Given the description of an element on the screen output the (x, y) to click on. 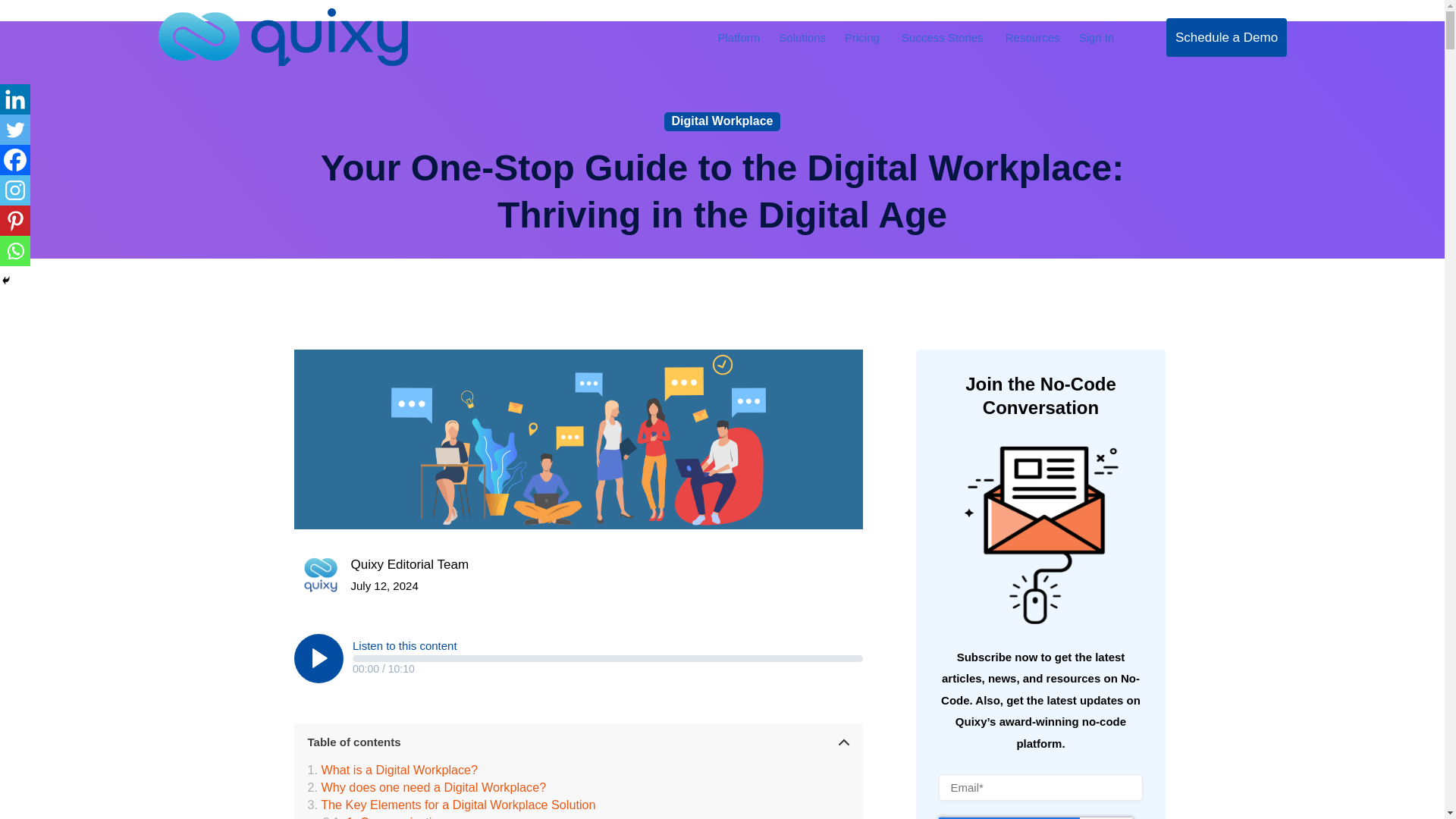
Solutions (801, 36)
Solutions (801, 36)
Platform (738, 36)
Platform (738, 36)
